Given the description of an element on the screen output the (x, y) to click on. 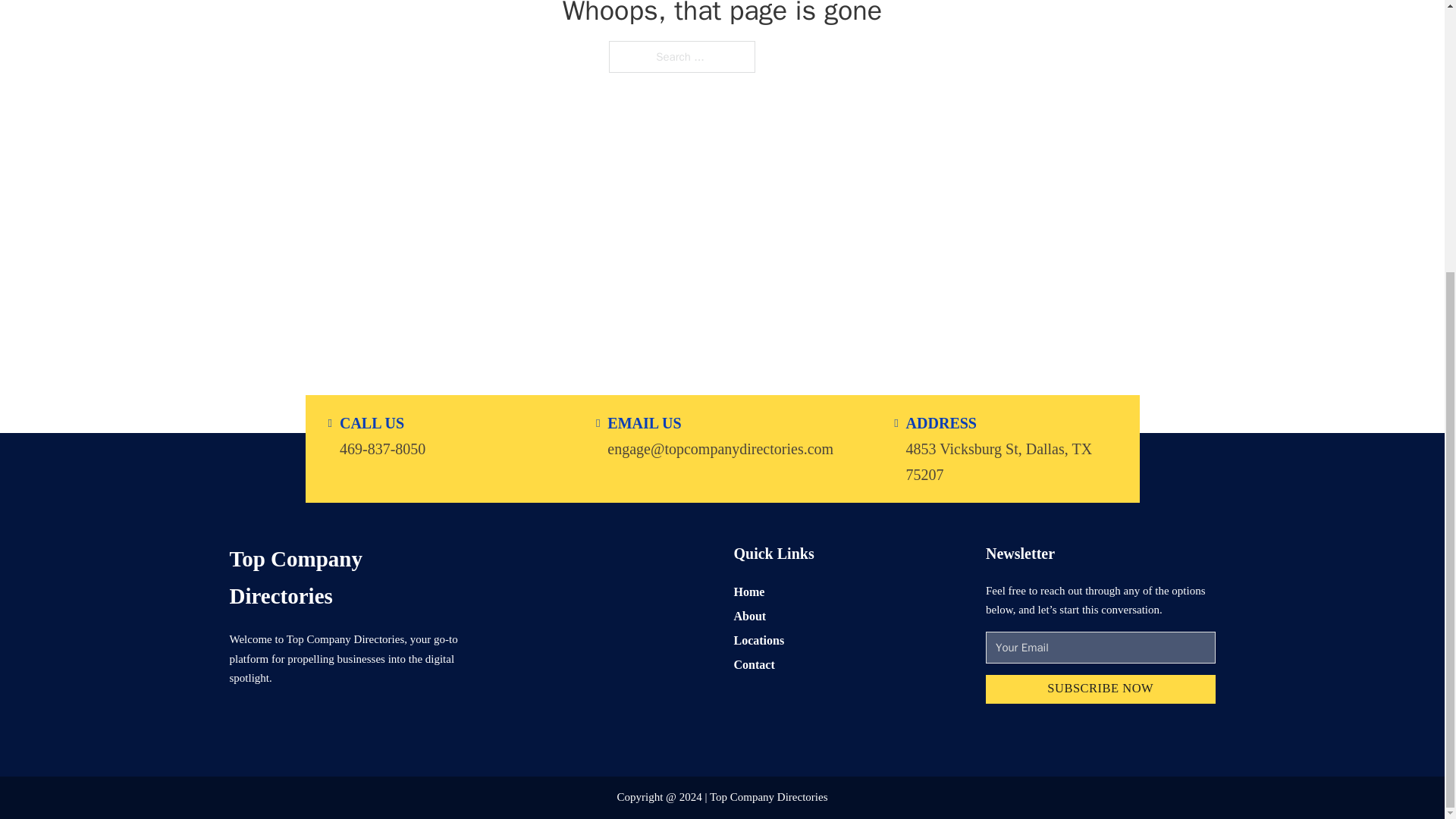
About (750, 616)
Top Company Directories (343, 577)
SUBSCRIBE NOW (1100, 689)
469-837-8050 (382, 447)
Home (749, 590)
Locations (758, 639)
Contact (753, 664)
